Given the description of an element on the screen output the (x, y) to click on. 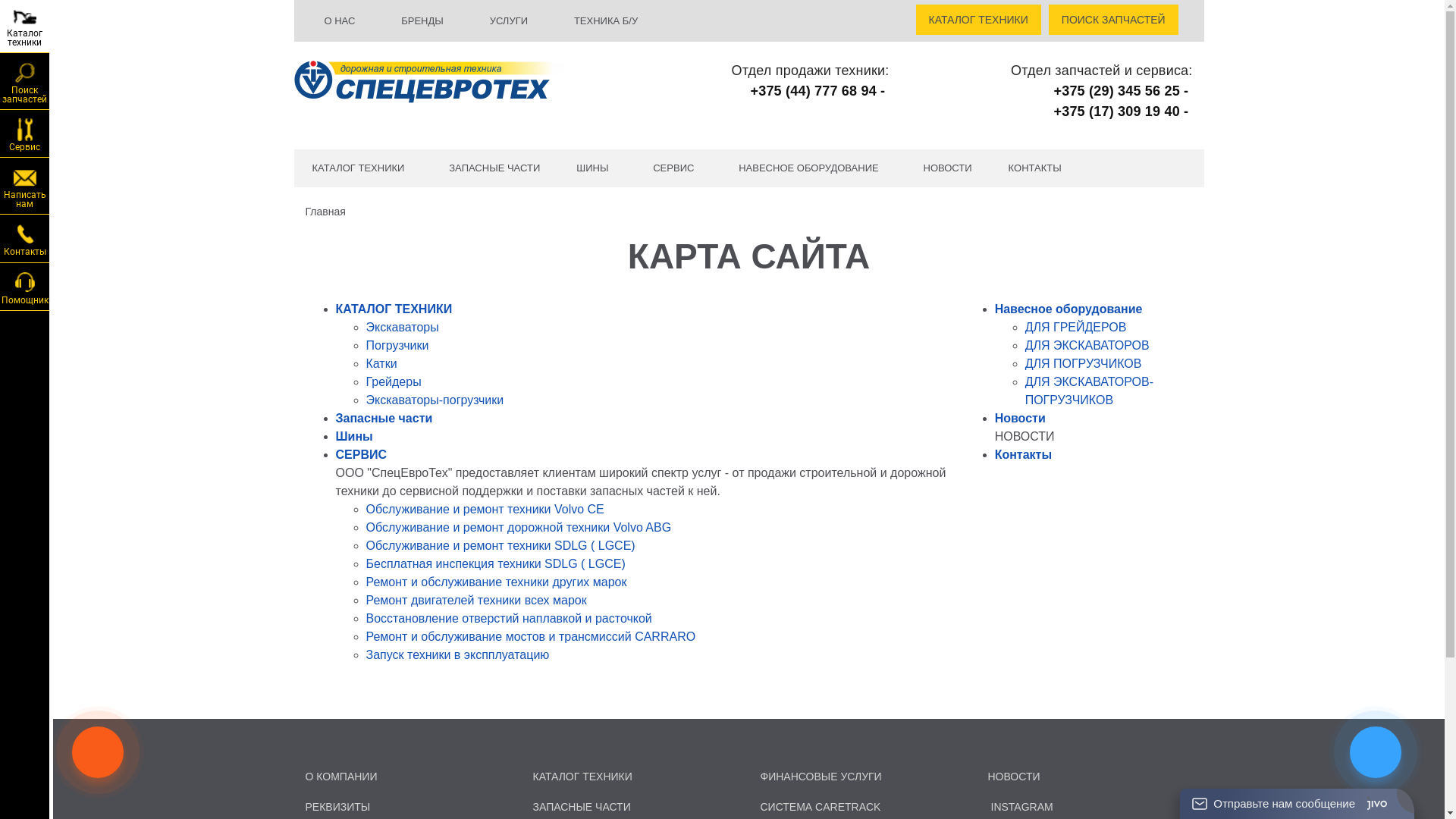
+375 (44) 777 68 94 - Element type: text (818, 90)
+375 (17) 309 19 40 - Element type: text (1122, 111)
INSTAGRAM Element type: text (1019, 806)
+375 (29) 345 56 25 - Element type: text (1122, 90)
